Given the description of an element on the screen output the (x, y) to click on. 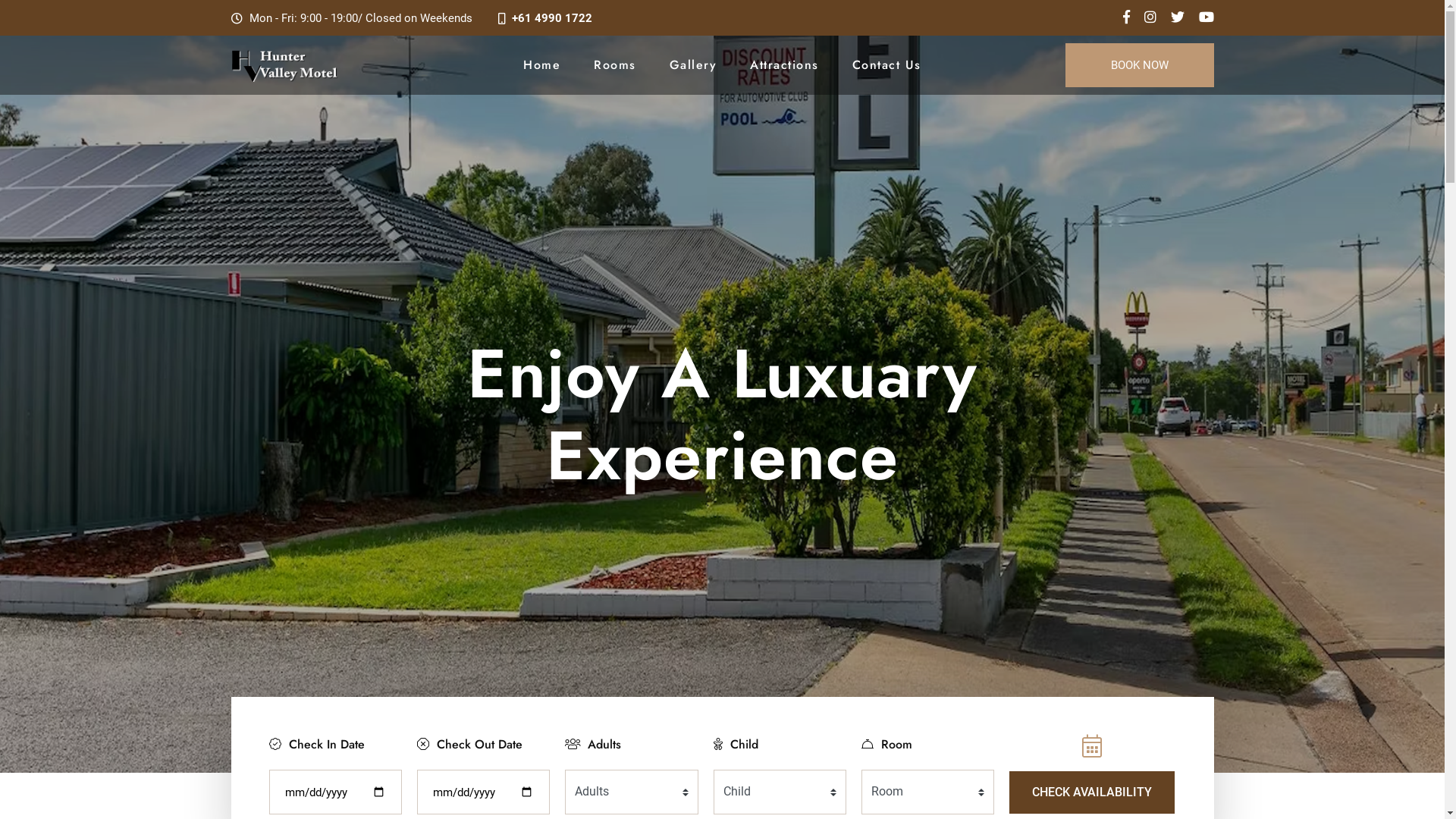
Twitter Element type: hover (1177, 17)
Rooms Element type: text (614, 65)
Attractions Element type: text (784, 65)
BOOK NOW Element type: text (1138, 65)
Gallery Element type: text (693, 65)
Facebook Element type: hover (1125, 17)
Twitter Element type: hover (1205, 17)
Contact Us Element type: text (886, 65)
CHECK AVAILABILITY Element type: text (1091, 792)
LinkedIn Element type: hover (1149, 17)
Home Element type: text (541, 65)
